Given the description of an element on the screen output the (x, y) to click on. 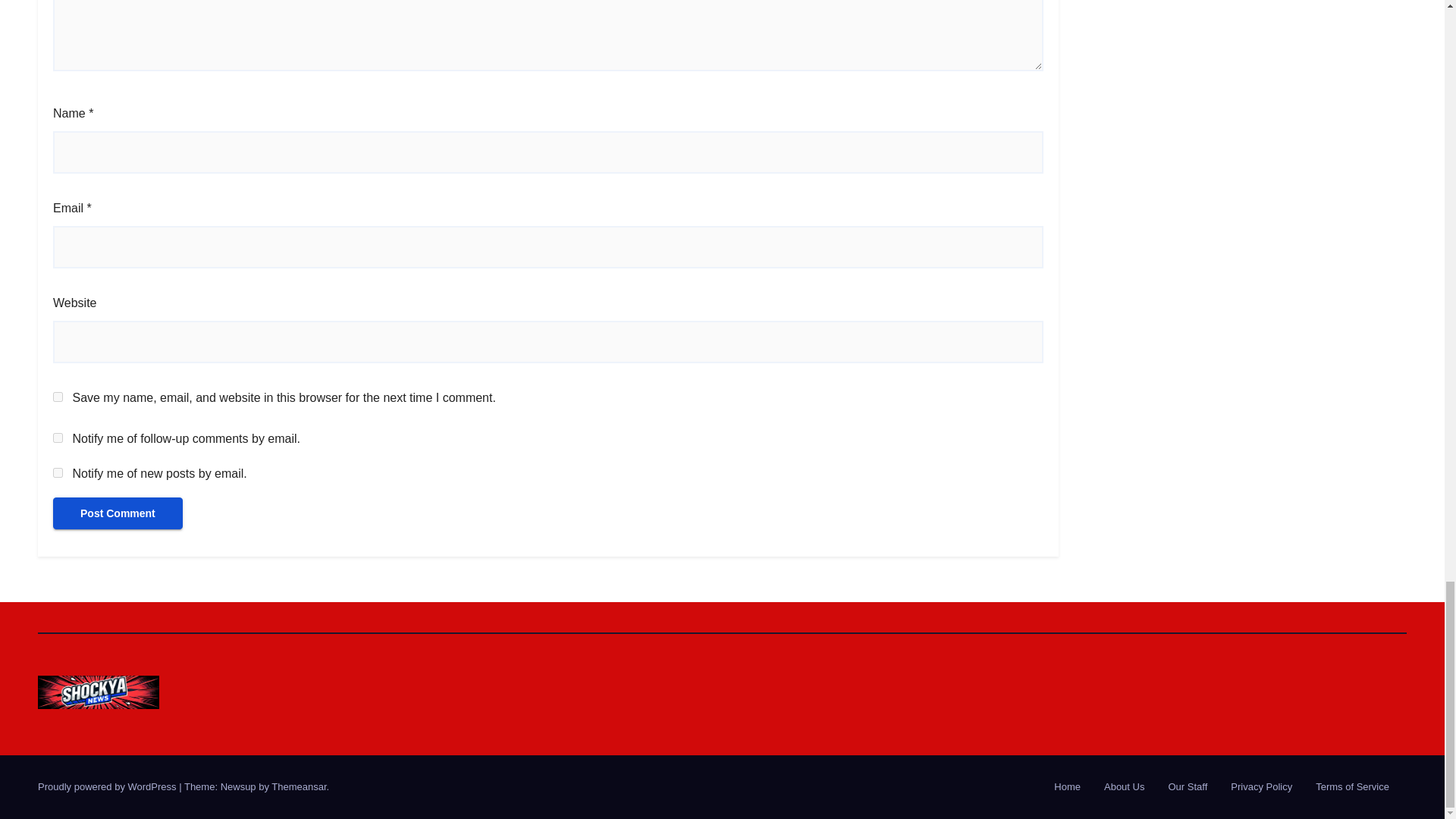
Post Comment (117, 513)
subscribe (57, 472)
subscribe (57, 438)
Post Comment (117, 513)
Home (1067, 786)
yes (57, 397)
